Given the description of an element on the screen output the (x, y) to click on. 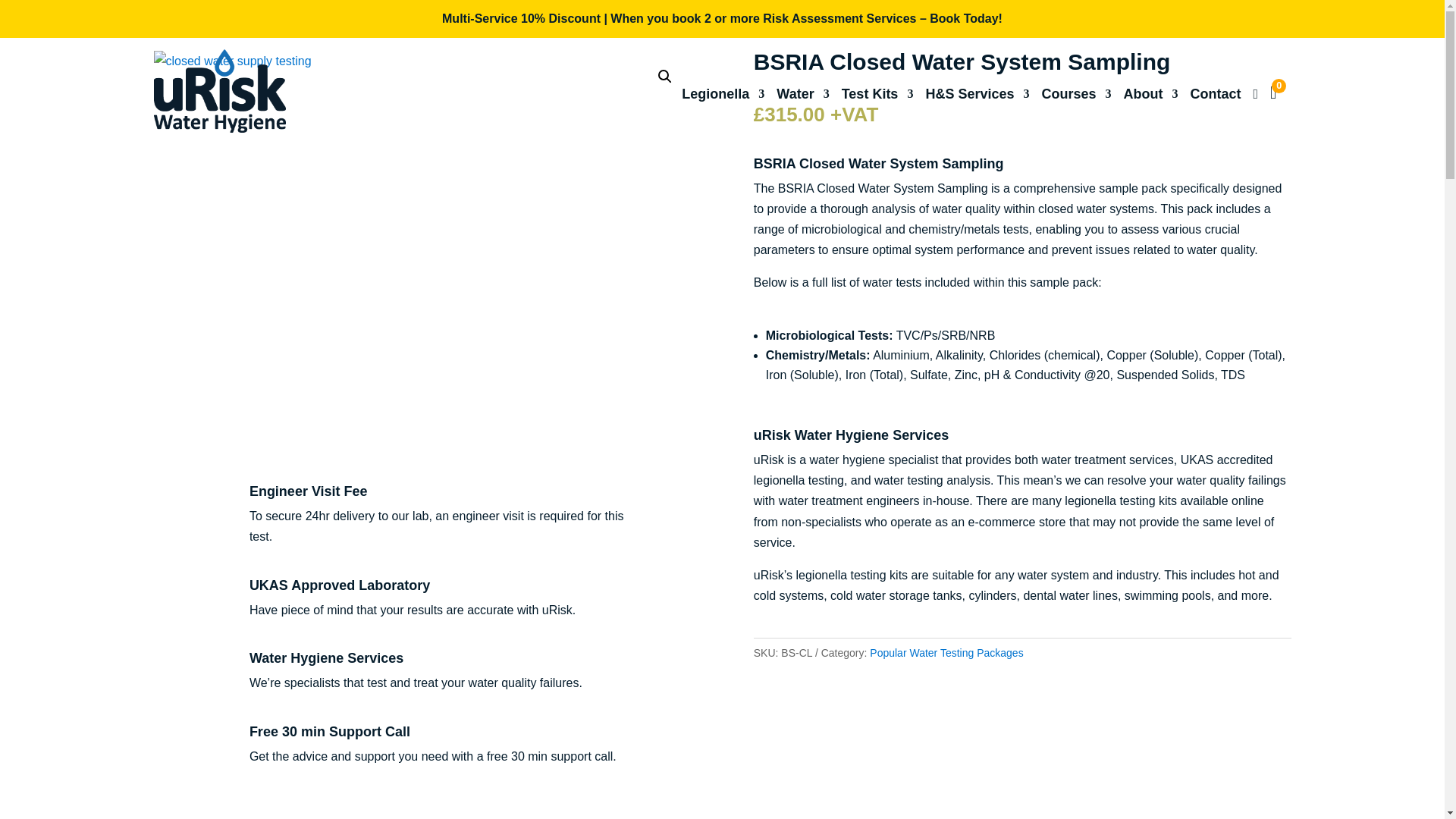
Water (802, 99)
Test Kits (877, 99)
Legionella (722, 99)
